Given the description of an element on the screen output the (x, y) to click on. 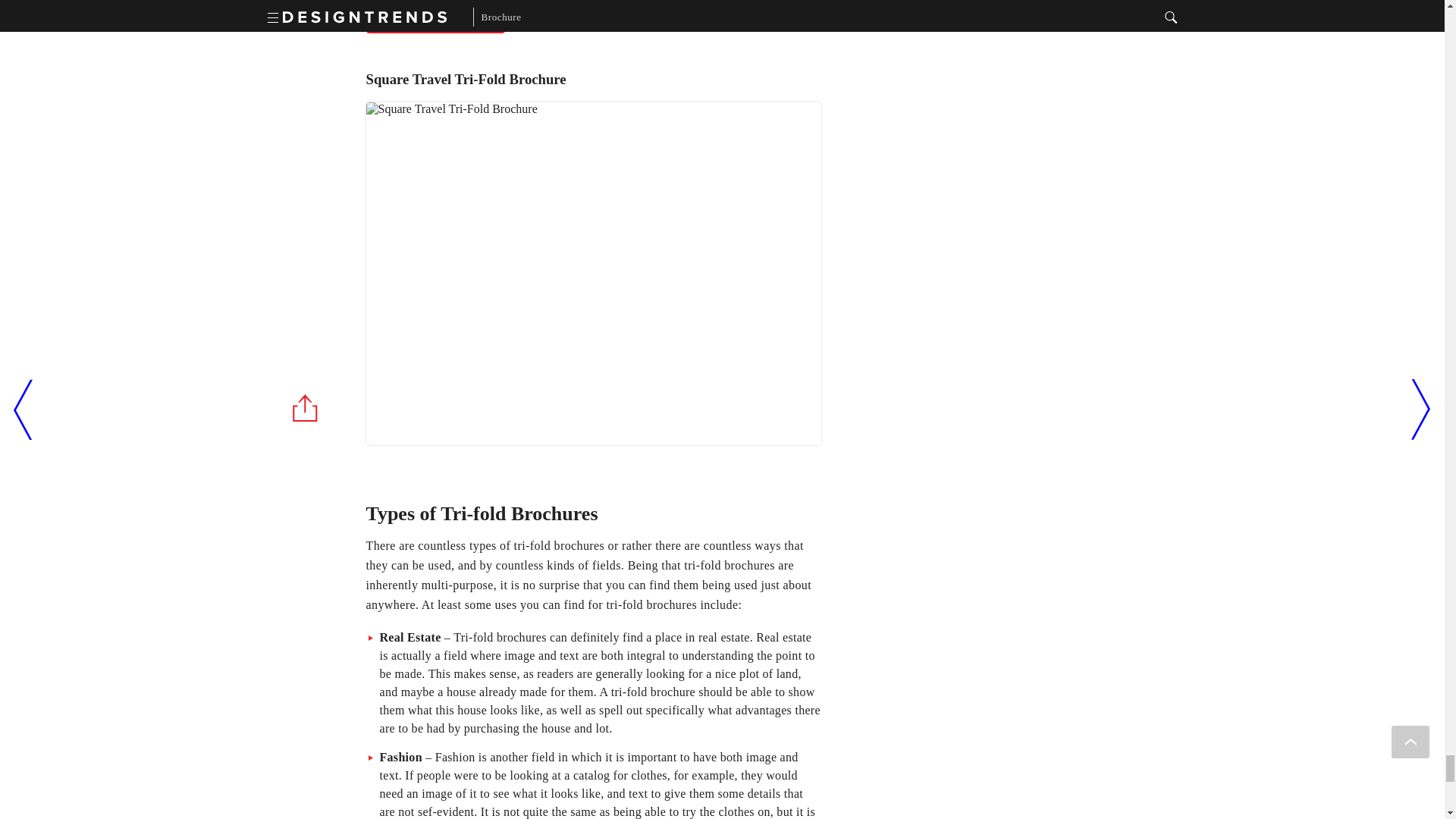
DOWNLOAD (434, 16)
